Given the description of an element on the screen output the (x, y) to click on. 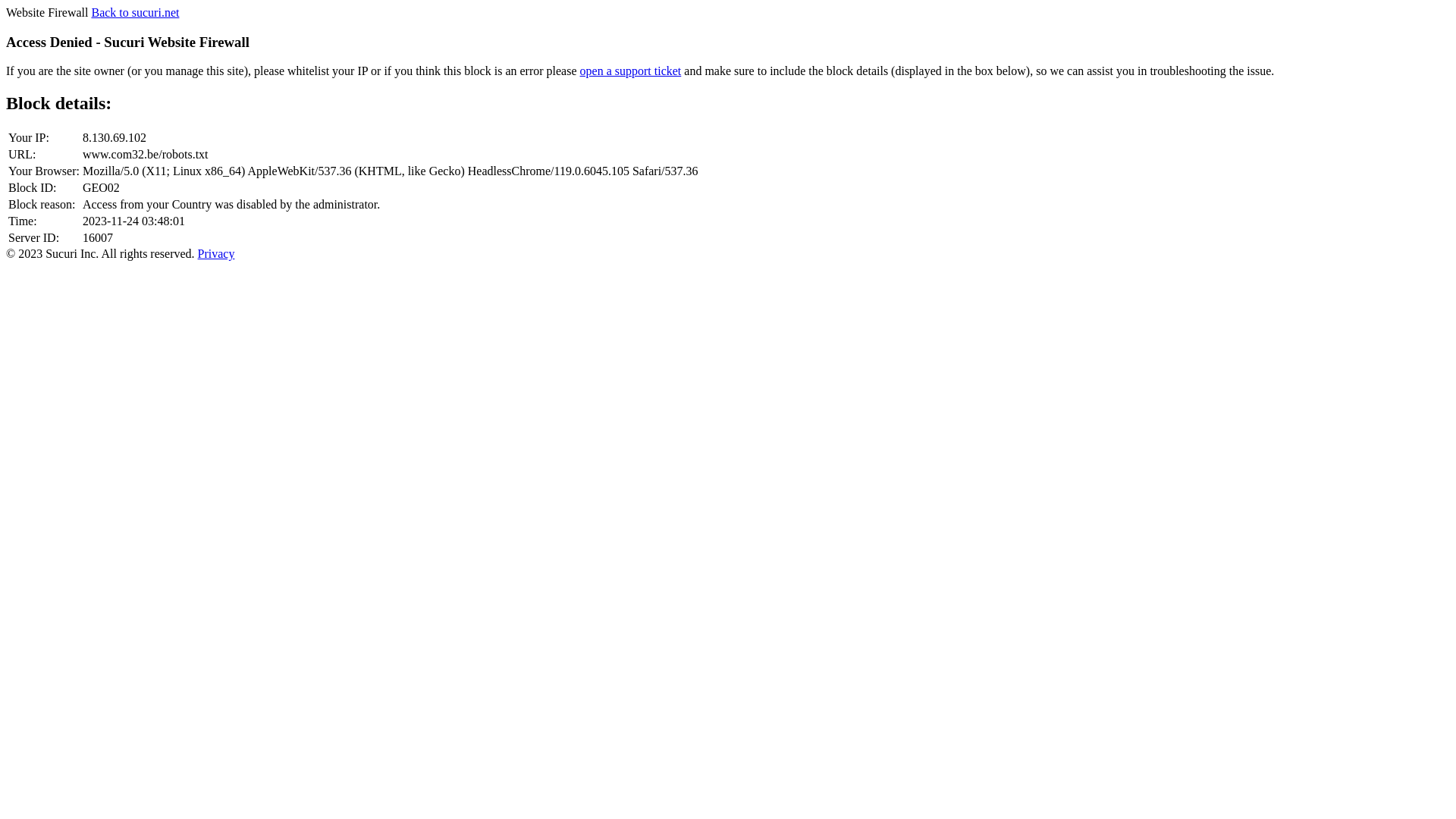
Back to sucuri.net Element type: text (134, 12)
Privacy Element type: text (216, 253)
open a support ticket Element type: text (630, 70)
